Given the description of an element on the screen output the (x, y) to click on. 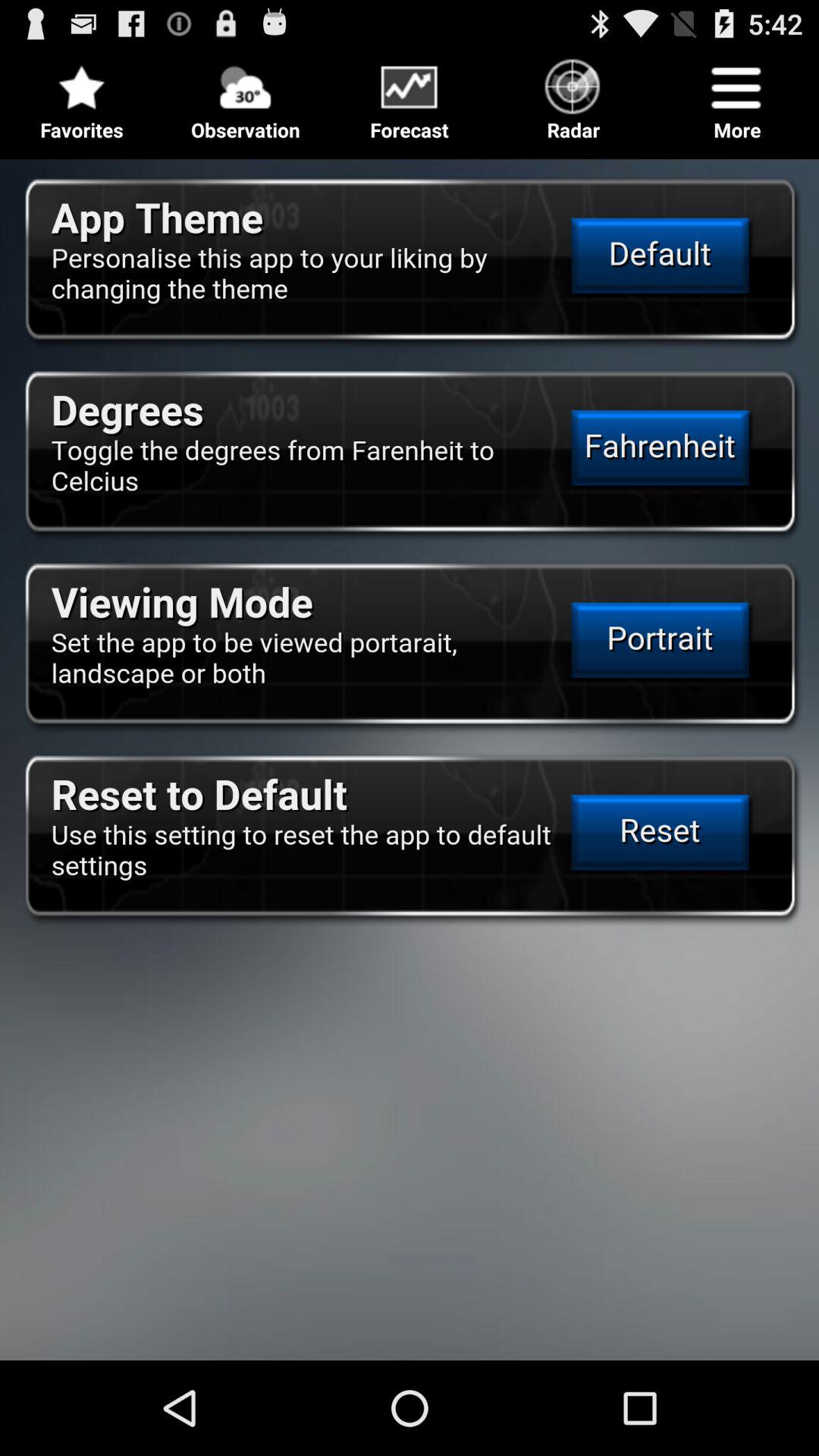
settings options (409, 753)
